Given the description of an element on the screen output the (x, y) to click on. 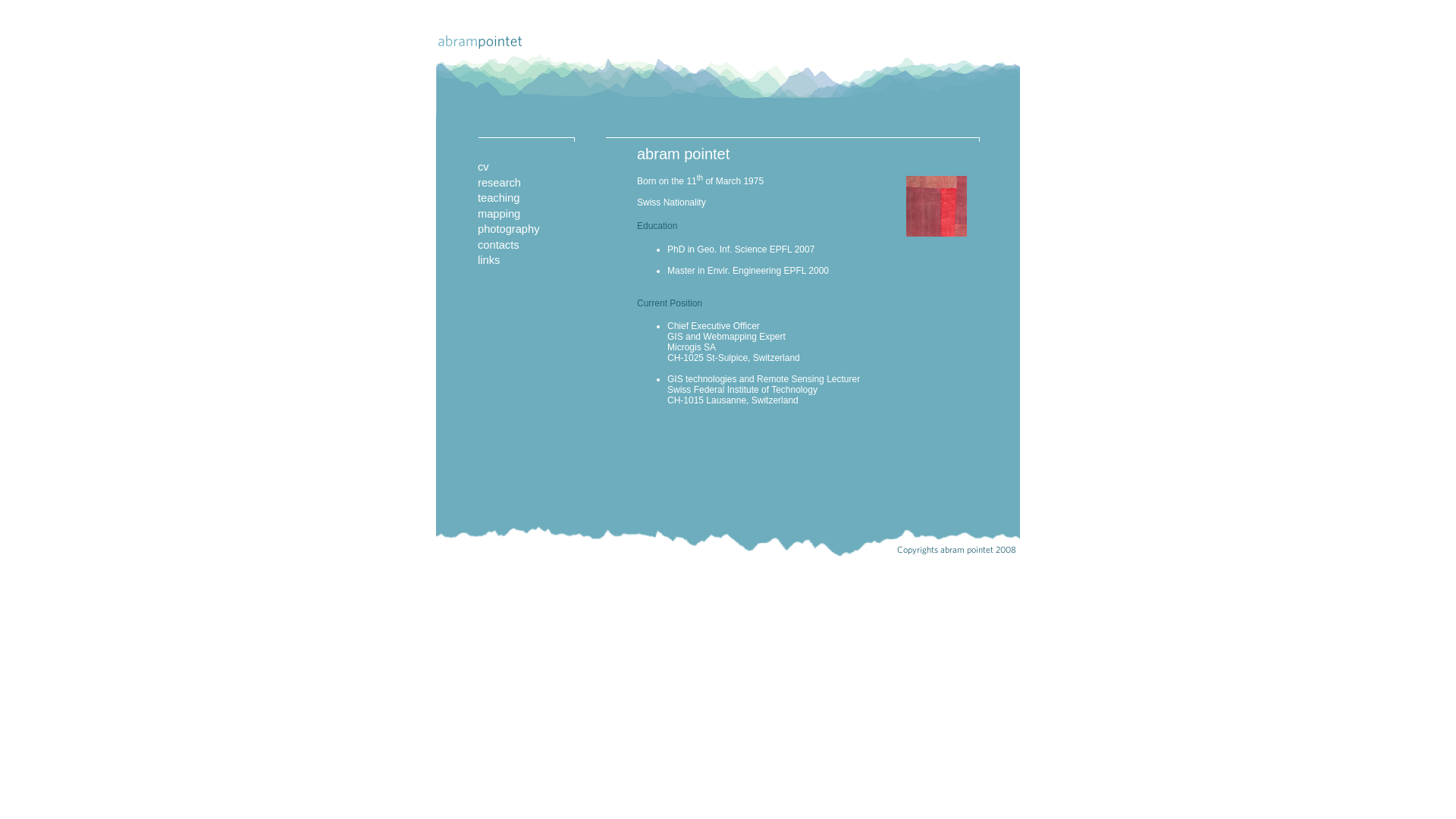
cv Element type: text (483, 166)
Kilim - Turkey Element type: hover (936, 225)
research Element type: text (498, 182)
mapping Element type: text (498, 213)
links Element type: text (488, 260)
teaching Element type: text (498, 197)
photography Element type: text (508, 228)
contacts Element type: text (498, 244)
